Given the description of an element on the screen output the (x, y) to click on. 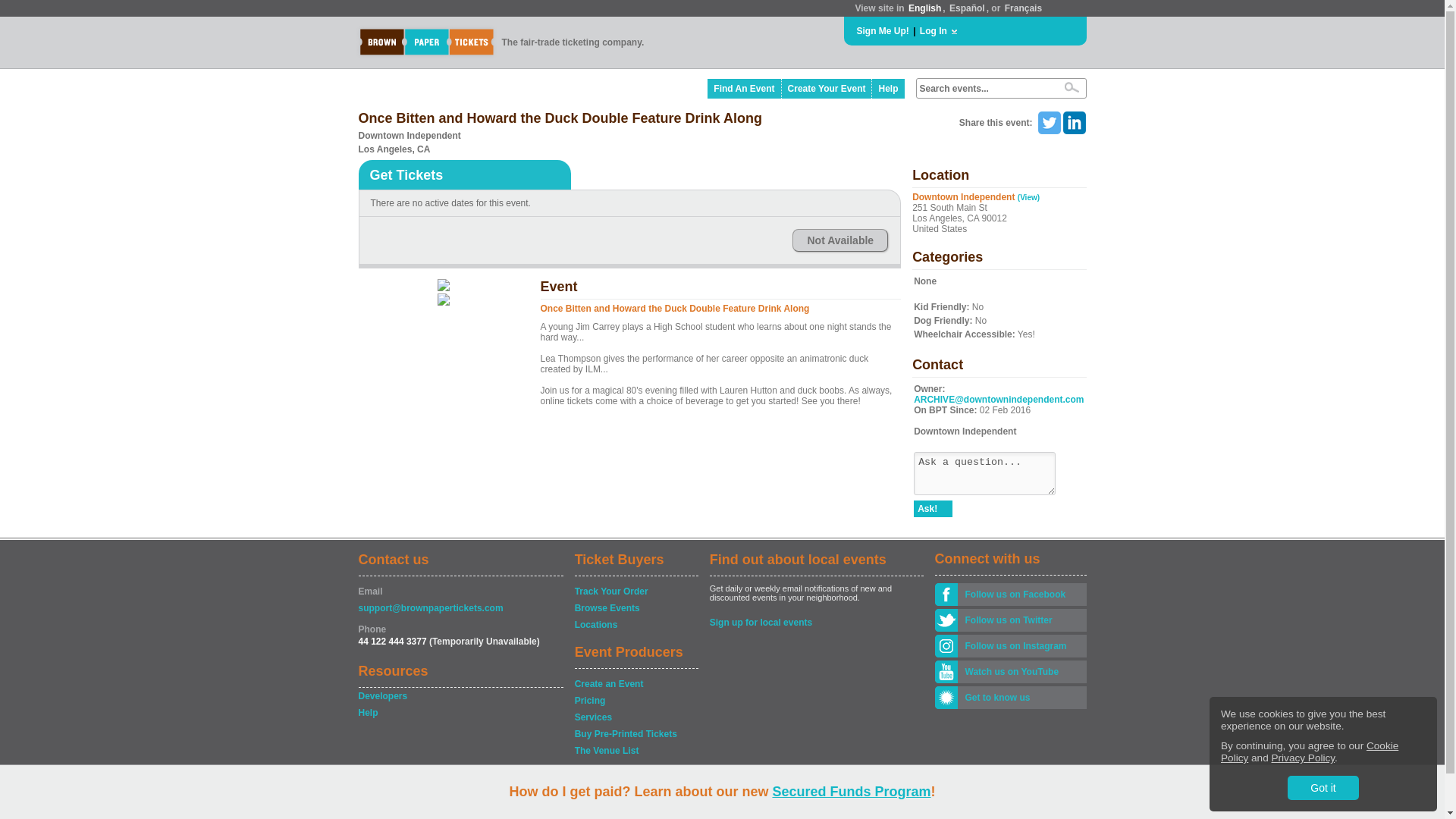
Browse Events (636, 607)
Follow us on Twitter (1021, 620)
Track Your Order (636, 590)
Create Your Event (826, 88)
Submit to Twitter! (1048, 122)
Search events... (984, 88)
Developers (460, 695)
Privacy Policy (1303, 757)
Find An Event (743, 88)
English (924, 8)
Sign up for local events (816, 622)
Sign Me Up! (883, 30)
Create an Event (636, 683)
Buy Pre-Printed Tickets (636, 734)
Help (460, 712)
